Given the description of an element on the screen output the (x, y) to click on. 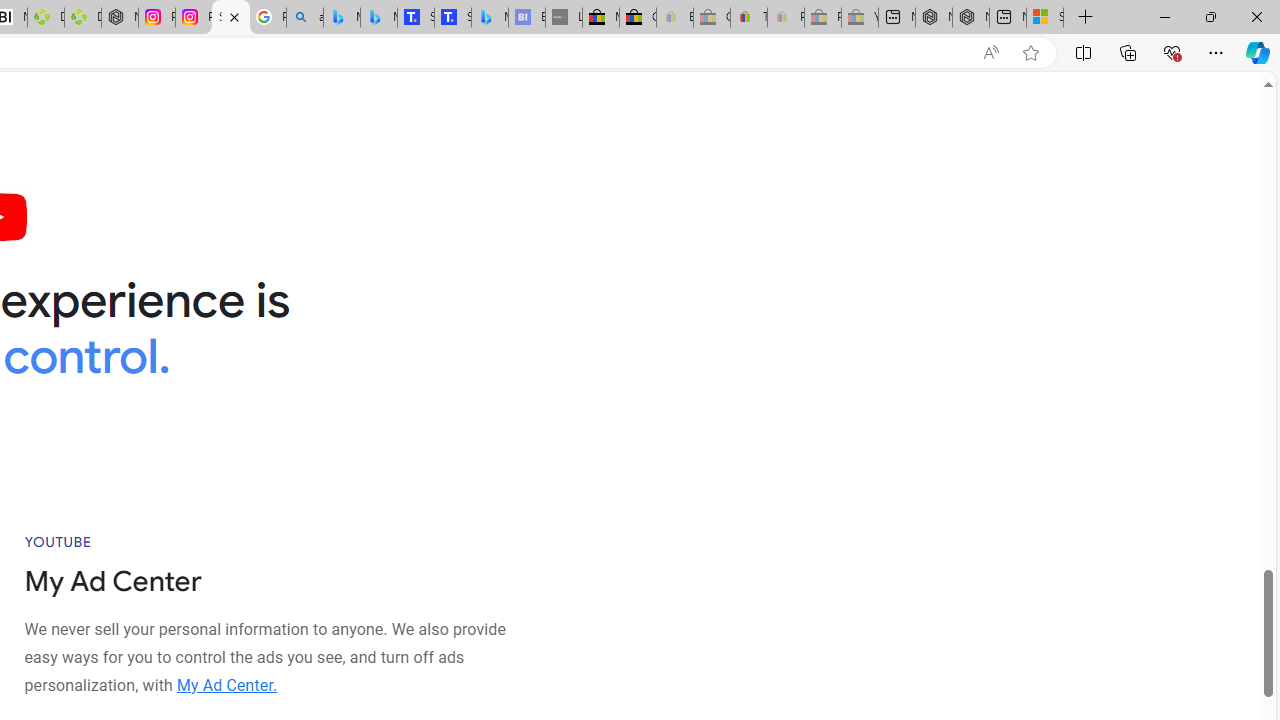
Microsoft Bing Travel - Flights from Hong Kong to Bangkok (341, 17)
alabama high school quarterback dies - Search (304, 17)
